Given the description of an element on the screen output the (x, y) to click on. 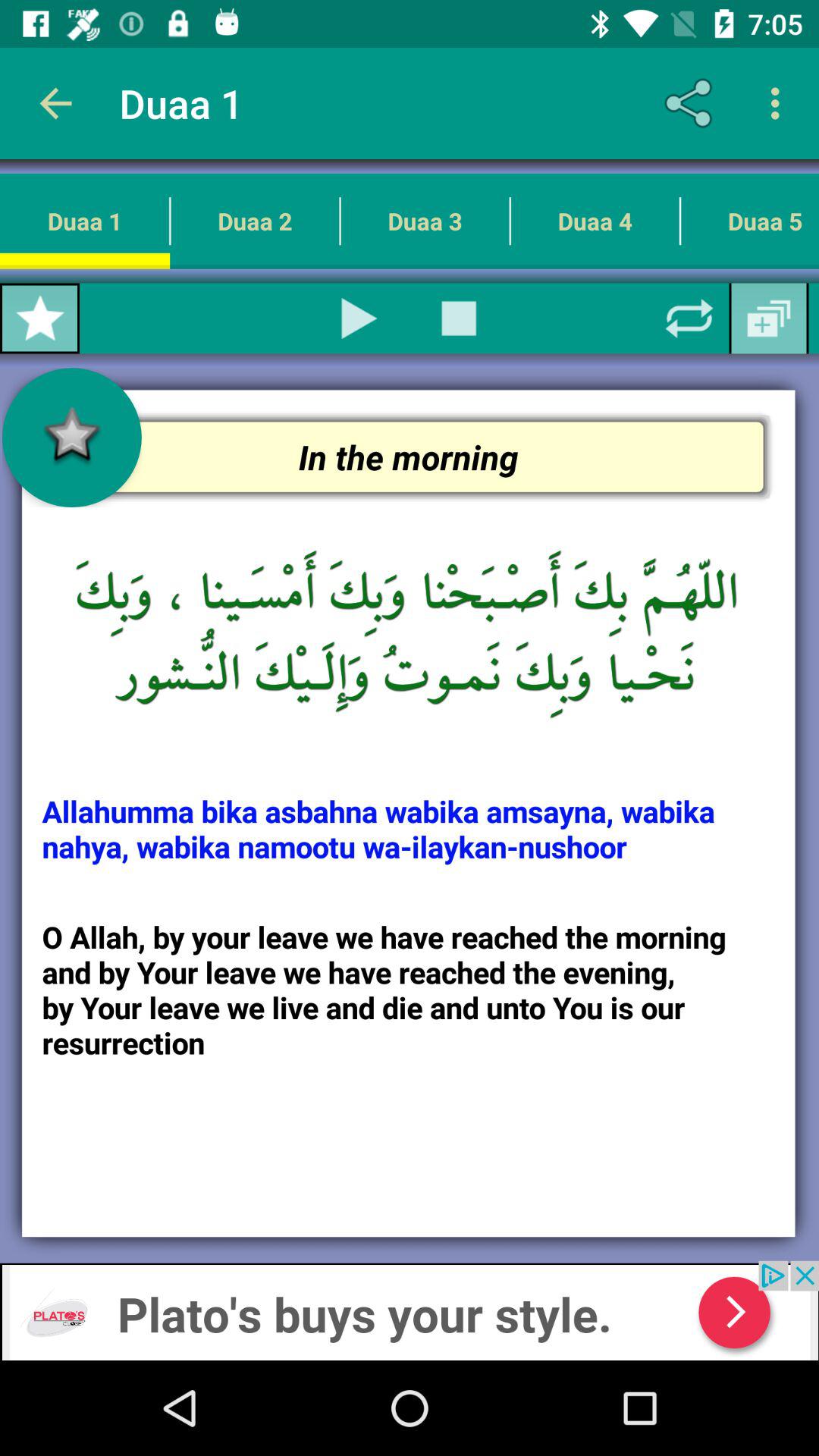
open the item next to duaa 3 item (595, 221)
